Given the description of an element on the screen output the (x, y) to click on. 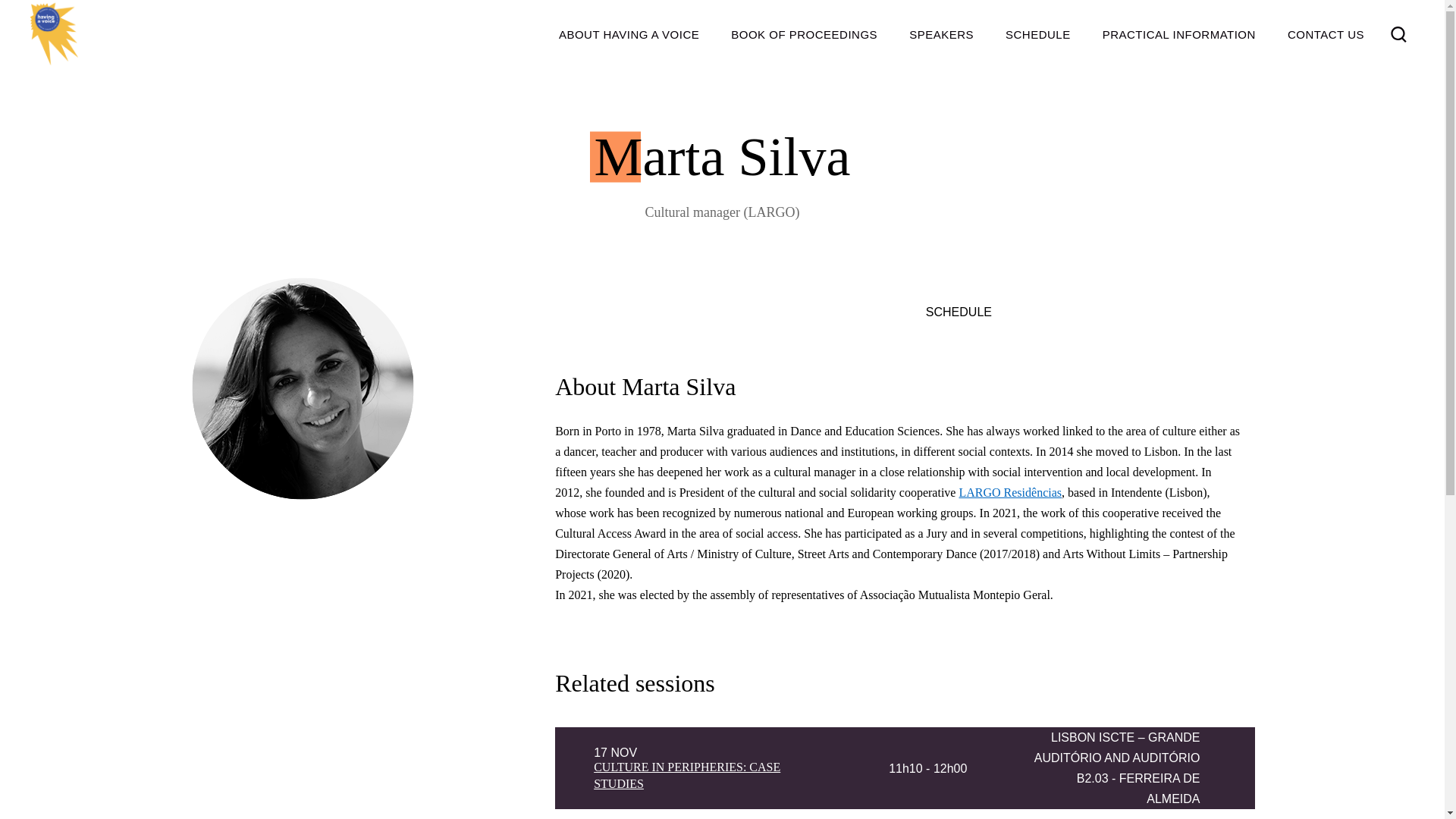
CONTACT US (1325, 33)
CULTURE IN PERIPHERIES: CASE STUDIES (687, 775)
ABOUT HAVING A VOICE (628, 33)
BOOK OF PROCEEDINGS (803, 33)
SPEAKERS (941, 33)
SCHEDULE (1037, 33)
PRACTICAL INFORMATION (1178, 33)
